Given the description of an element on the screen output the (x, y) to click on. 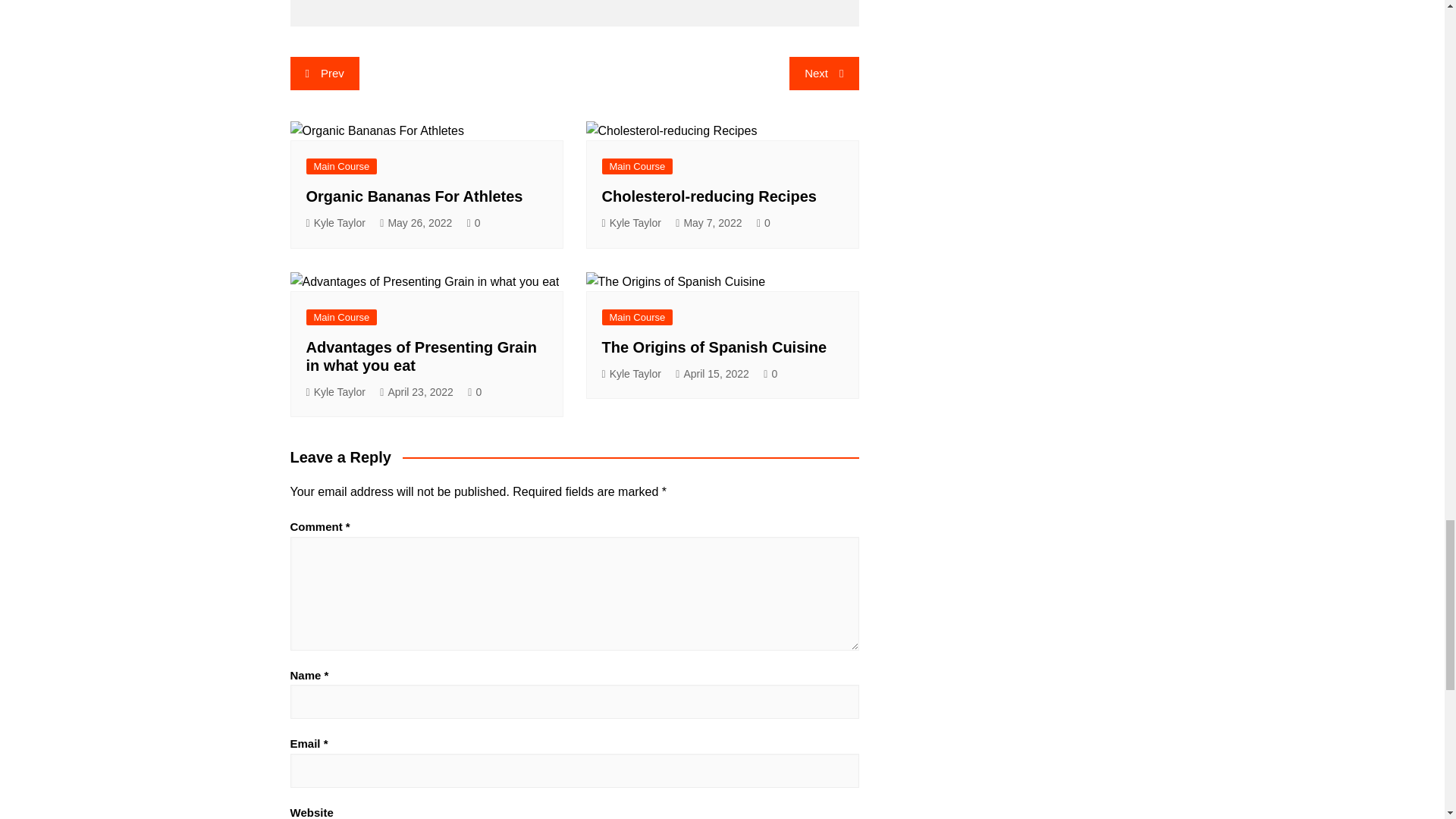
Organic Bananas For Athletes (413, 196)
May 7, 2022 (708, 222)
Kyle Taylor (335, 222)
Next (824, 73)
Main Course (637, 166)
Kyle Taylor (631, 222)
Cholesterol-reducing Recipes (709, 196)
Prev (323, 73)
May 26, 2022 (415, 222)
Main Course (341, 317)
